Given the description of an element on the screen output the (x, y) to click on. 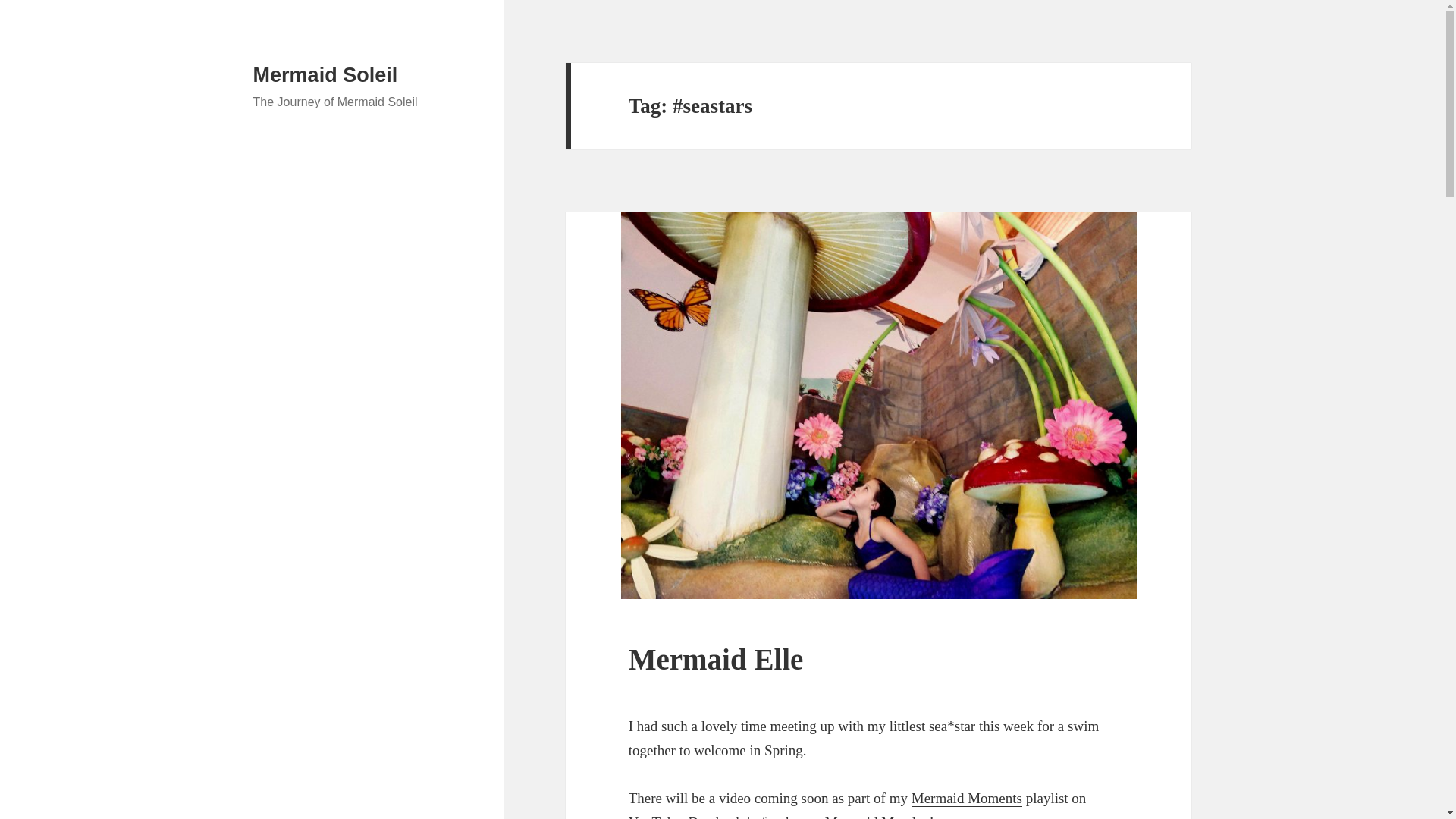
Mermaid Elle (715, 658)
Mermaid Soleil (325, 74)
Mermaid Moments (966, 798)
